Given the description of an element on the screen output the (x, y) to click on. 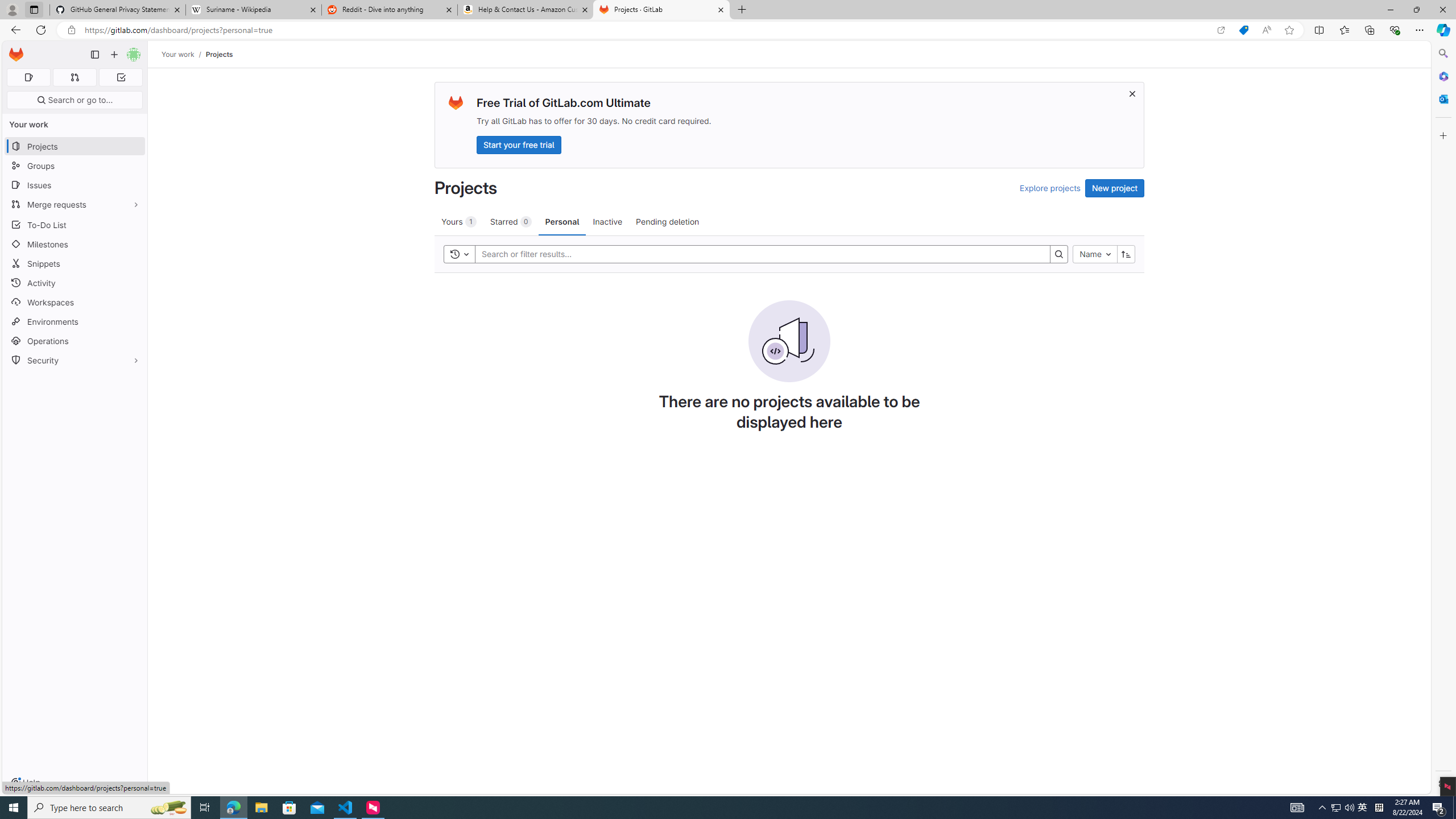
Merge requests 0 (74, 76)
Help & Contact Us - Amazon Customer Service (525, 9)
Reddit - Dive into anything (390, 9)
Activity (74, 282)
Operations (74, 340)
Start your free trial (519, 144)
Inactive (606, 221)
Homepage (16, 54)
Snippets (74, 262)
Milestones (74, 244)
